Given the description of an element on the screen output the (x, y) to click on. 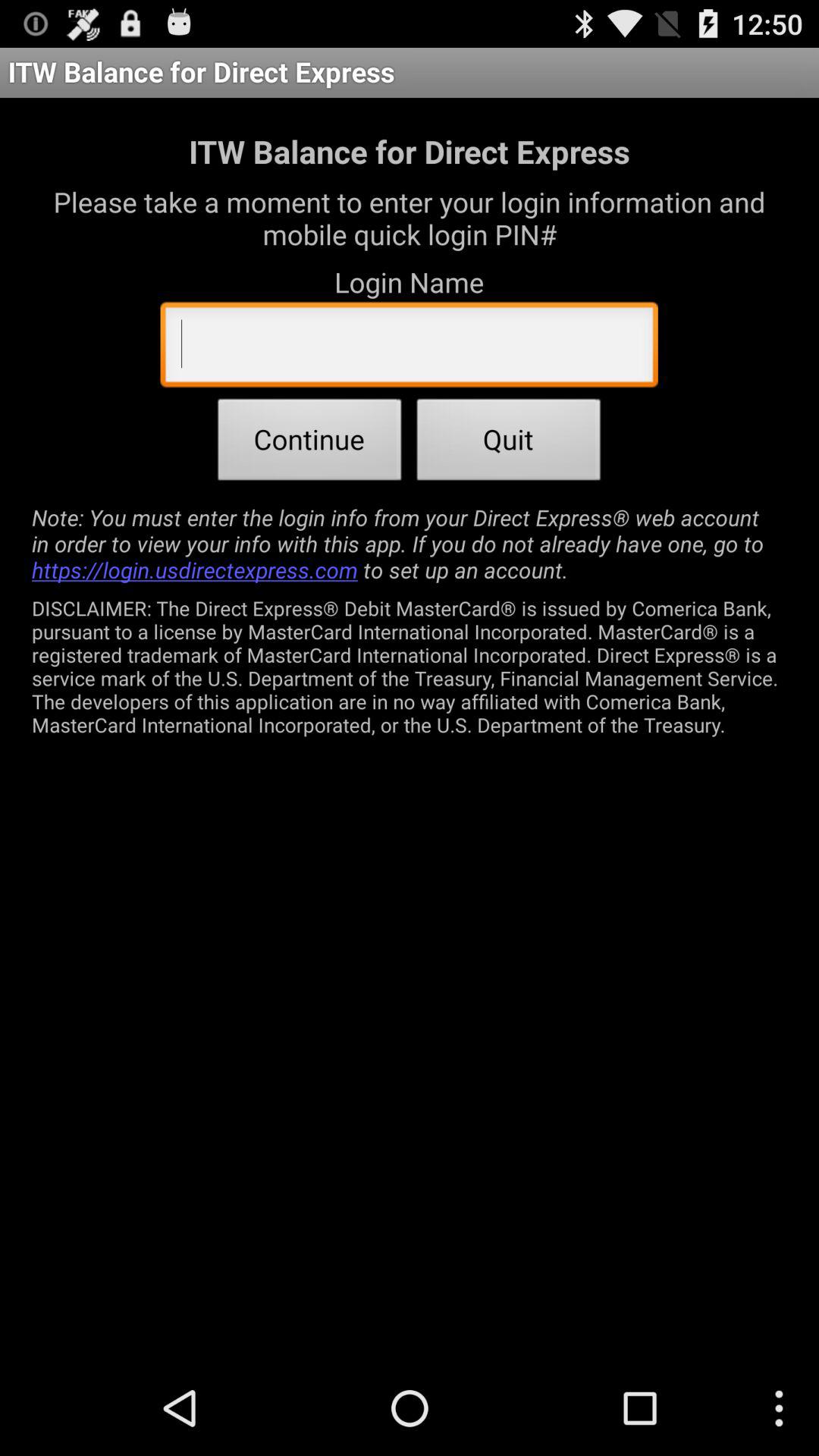
launch icon to the right of continue item (508, 443)
